Given the description of an element on the screen output the (x, y) to click on. 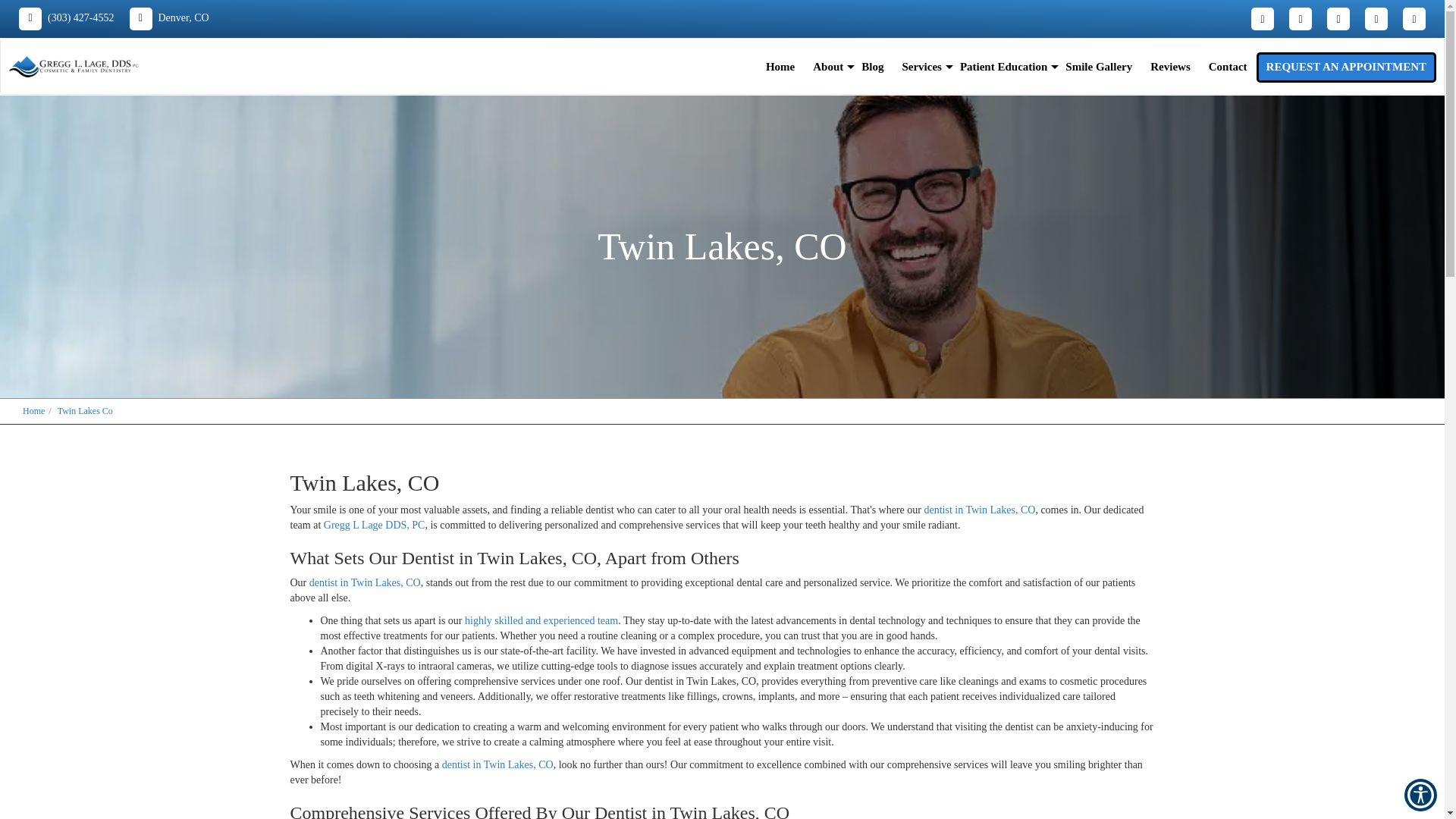
Patient Education (1003, 66)
Visit Gregg L. Lage, D.D.S.,P.C. on Twitter (1337, 18)
Denver, CO (167, 18)
Services (921, 66)
Visit Gregg L. Lage, D.D.S.,P.C. on Google (1413, 18)
Brand Logo (74, 66)
User way accessibility widget icon (1420, 795)
Visit Gregg L. Lage, D.D.S.,P.C. on Pinterest (1375, 18)
Visit Gregg L. Lage, D.D.S.,P.C. on Facebook (1262, 18)
Visit Gregg L. Lage, D.D.S.,P.C. on Yelp (1300, 18)
